Given the description of an element on the screen output the (x, y) to click on. 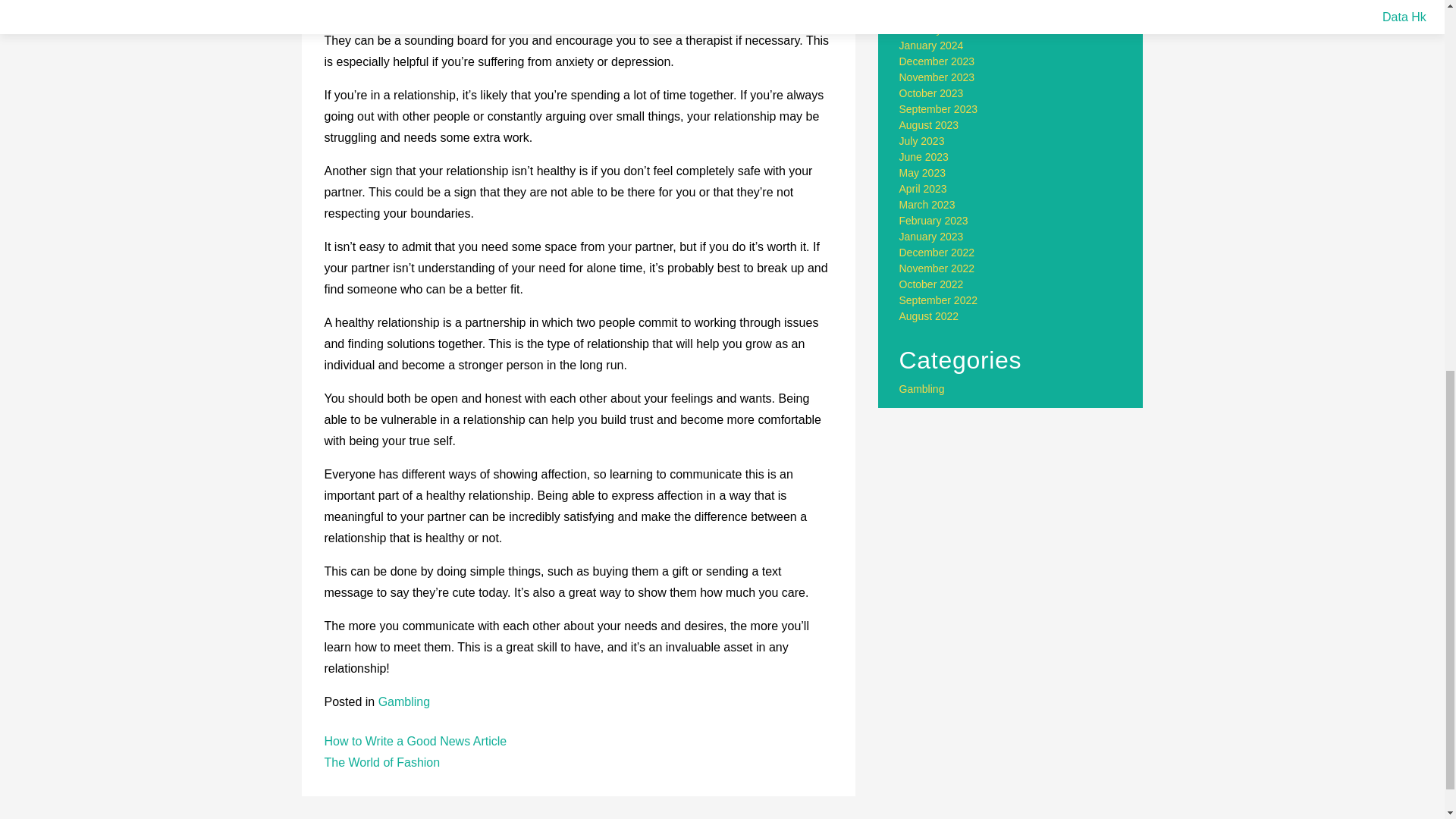
December 2022 (937, 252)
November 2022 (937, 268)
April 2023 (923, 188)
July 2023 (921, 141)
March 2023 (927, 204)
January 2023 (931, 236)
The World of Fashion (382, 762)
August 2023 (929, 124)
Gambling (921, 388)
May 2023 (921, 173)
